Given the description of an element on the screen output the (x, y) to click on. 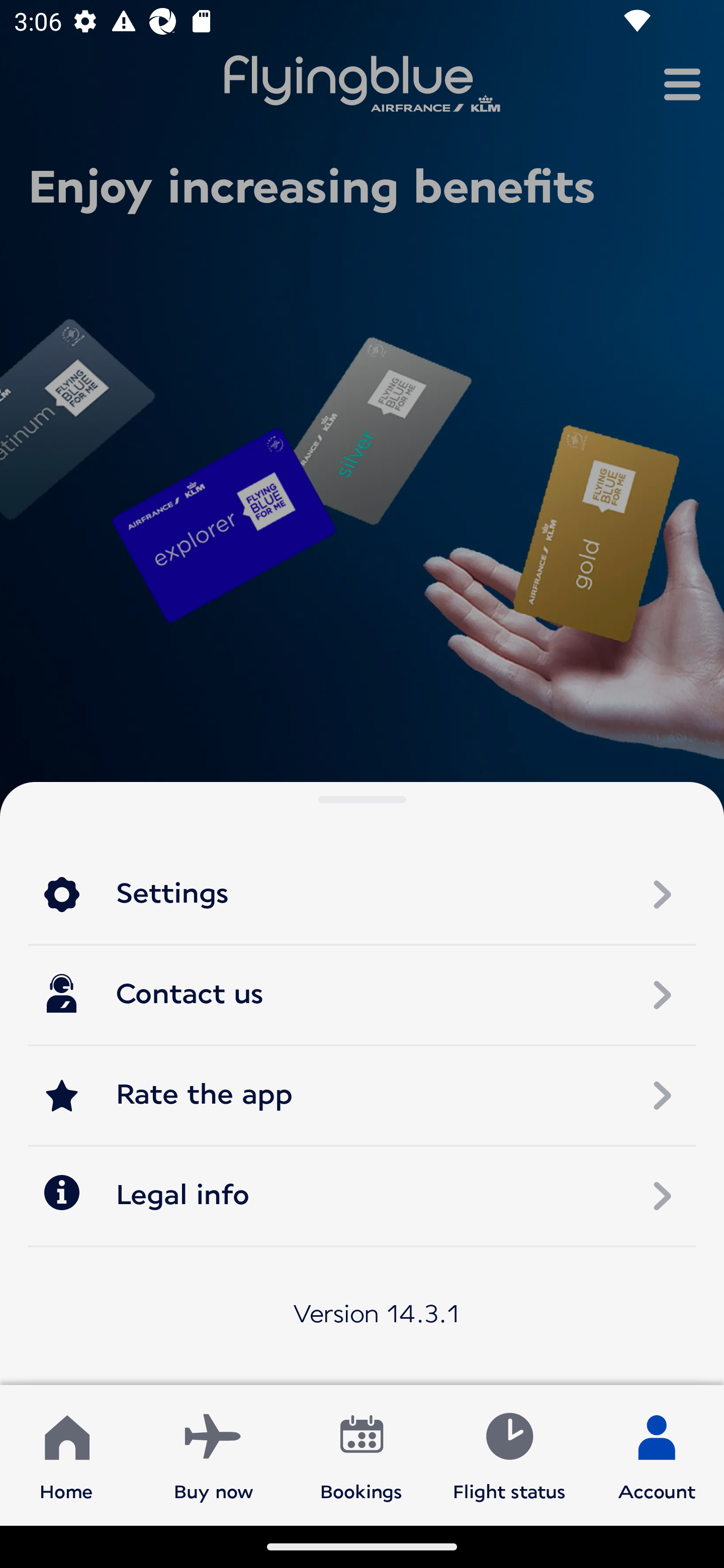
Settings (361, 894)
Contact us (361, 994)
Rate the app (361, 1094)
Legal info (361, 1195)
Home (66, 1454)
Buy now (213, 1454)
Bookings (361, 1454)
Flight status (509, 1454)
